Given the description of an element on the screen output the (x, y) to click on. 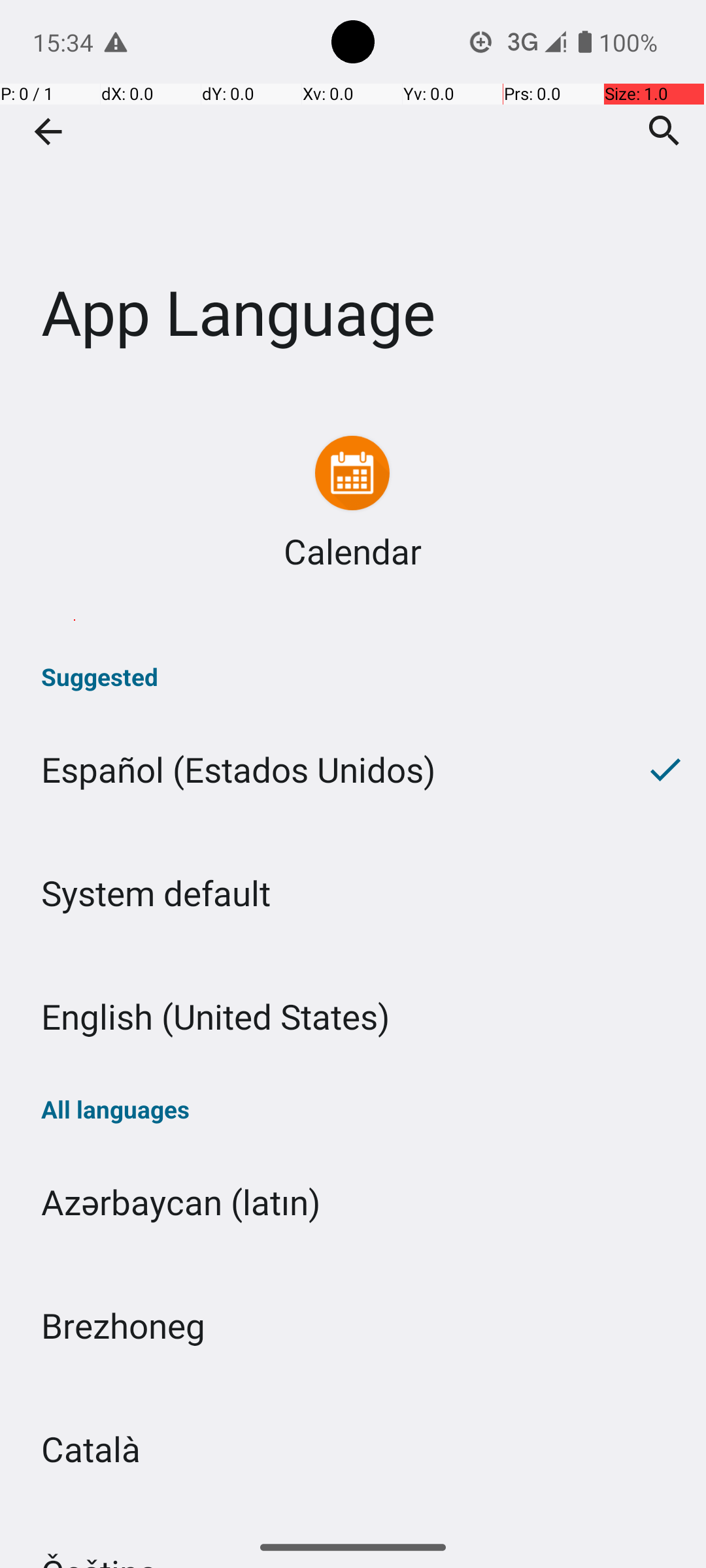
App Language Element type: android.widget.FrameLayout (353, 195)
Suggested Element type: android.widget.TextView (353, 676)
System default Element type: android.widget.TextView (353, 892)
English (United States) Element type: android.widget.TextView (353, 1016)
All languages Element type: android.widget.TextView (353, 1109)
Azərbaycan (latın) Element type: android.widget.TextView (353, 1201)
Brezhoneg Element type: android.widget.TextView (353, 1325)
Català Element type: android.widget.TextView (353, 1448)
Čeština Element type: android.widget.TextView (353, 1518)
Español (Estados Unidos) Element type: android.widget.TextView (312, 769)
